Given the description of an element on the screen output the (x, y) to click on. 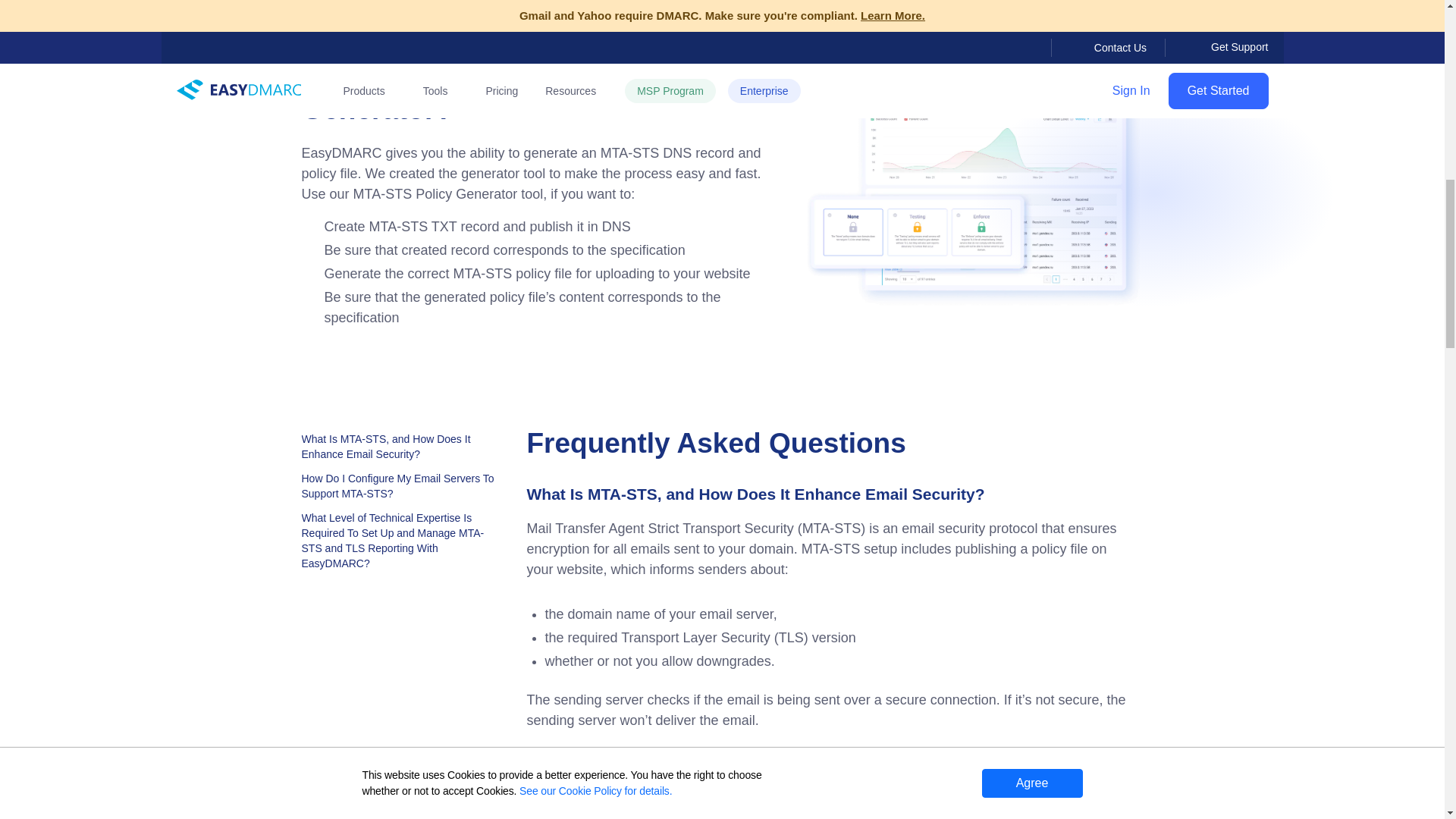
What Is MTA-STS, and How Does It Enhance Email Security? (398, 449)
How Do I Configure My Email Servers To Support MTA-STS? (398, 488)
Back to Top (1381, 54)
Back to Top (1381, 54)
